Given the description of an element on the screen output the (x, y) to click on. 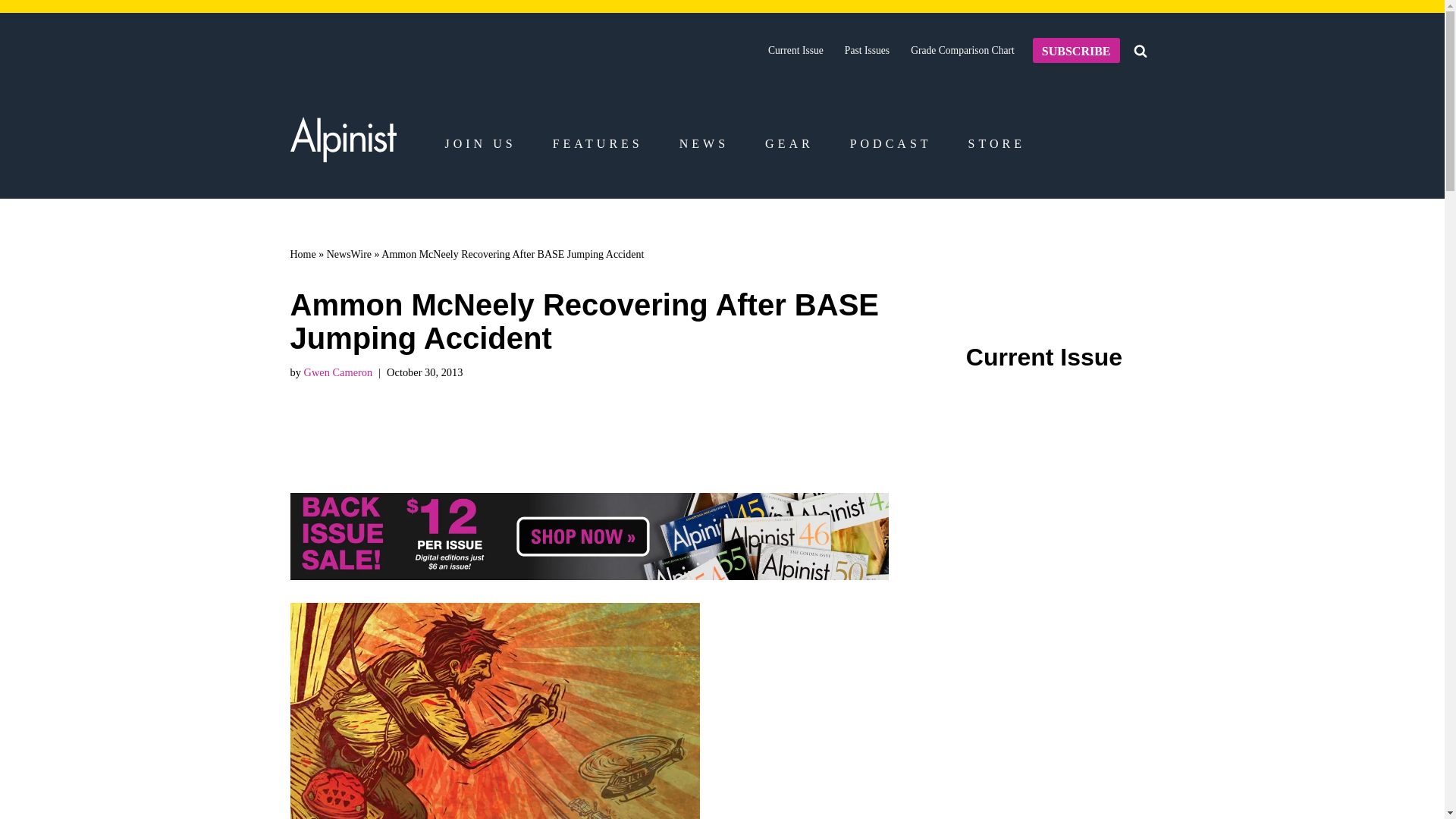
ammon-1 (493, 710)
NEWS (704, 143)
Posts by Gwen Cameron (337, 372)
PODCAST (890, 143)
JOIN US (479, 143)
Current Issue (796, 49)
Past Issues (866, 49)
GEAR (789, 143)
Home (302, 254)
FEATURES (598, 143)
